Given the description of an element on the screen output the (x, y) to click on. 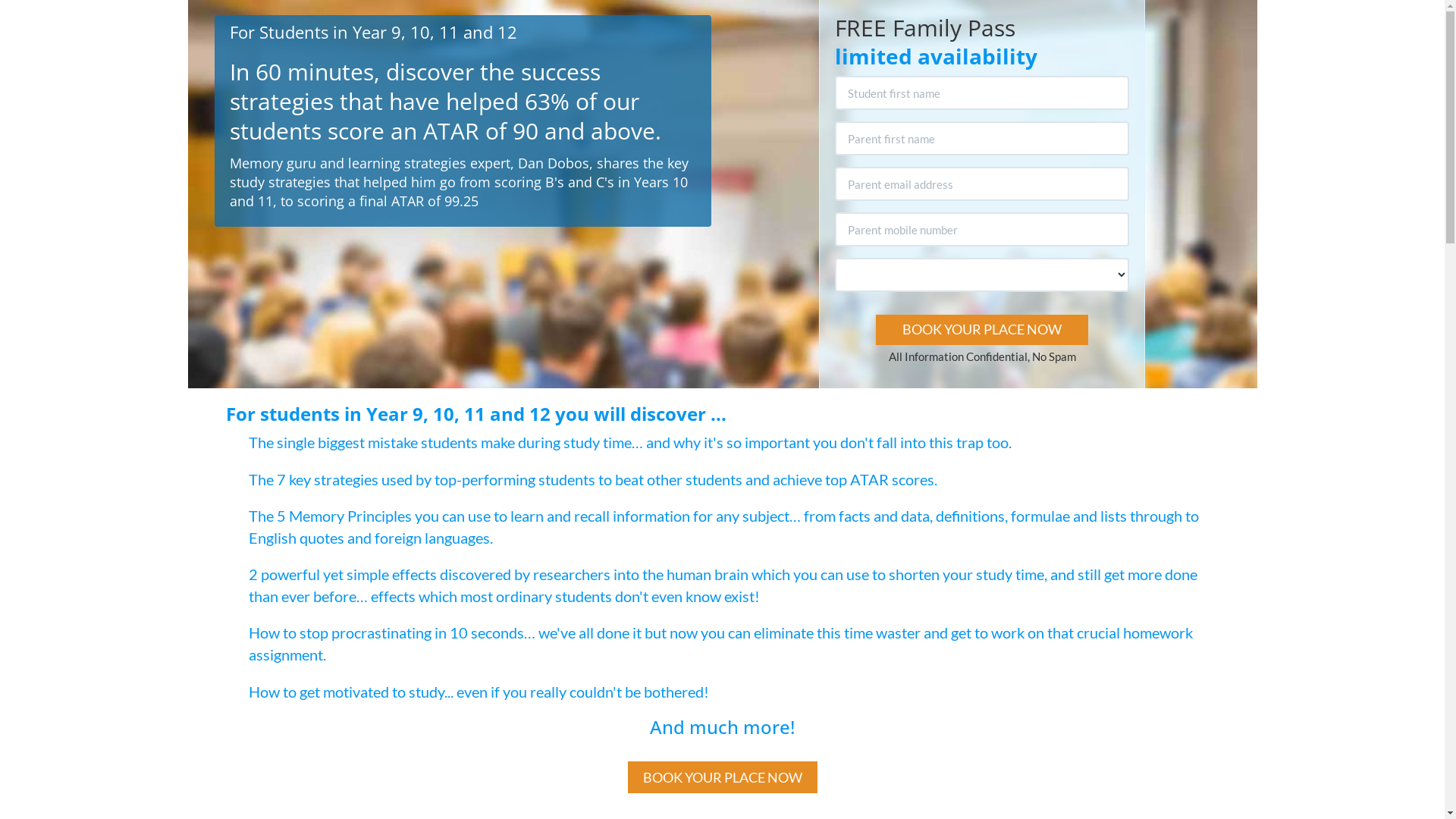
BOOK YOUR PLACE NOW Element type: text (722, 777)
BOOK YOUR PLACE NOW Element type: text (981, 329)
